Given the description of an element on the screen output the (x, y) to click on. 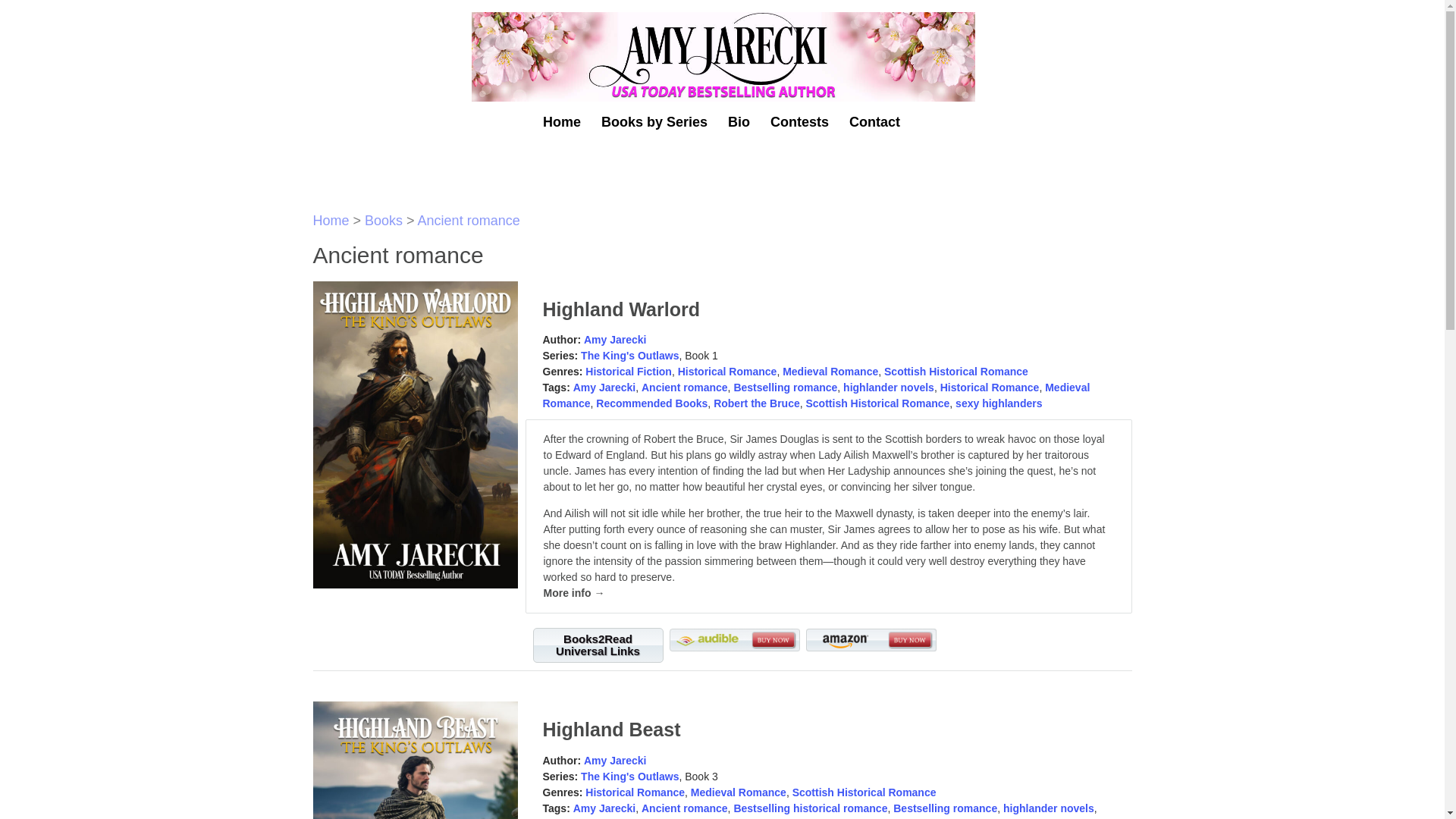
Books (384, 220)
Books by Series (654, 132)
The King's Outlaws (629, 355)
Medieval Romance (816, 395)
Historical Romance (634, 792)
Ancient romance (468, 220)
Amy Jarecki (604, 808)
The King's Outlaws (629, 776)
Medieval Romance (830, 371)
Contact (873, 132)
Scottish Historical Romance (864, 792)
Medieval Romance (738, 792)
Highland Warlord (621, 309)
Historical Romance (989, 387)
Books2Read Universal Links (597, 645)
